Given the description of an element on the screen output the (x, y) to click on. 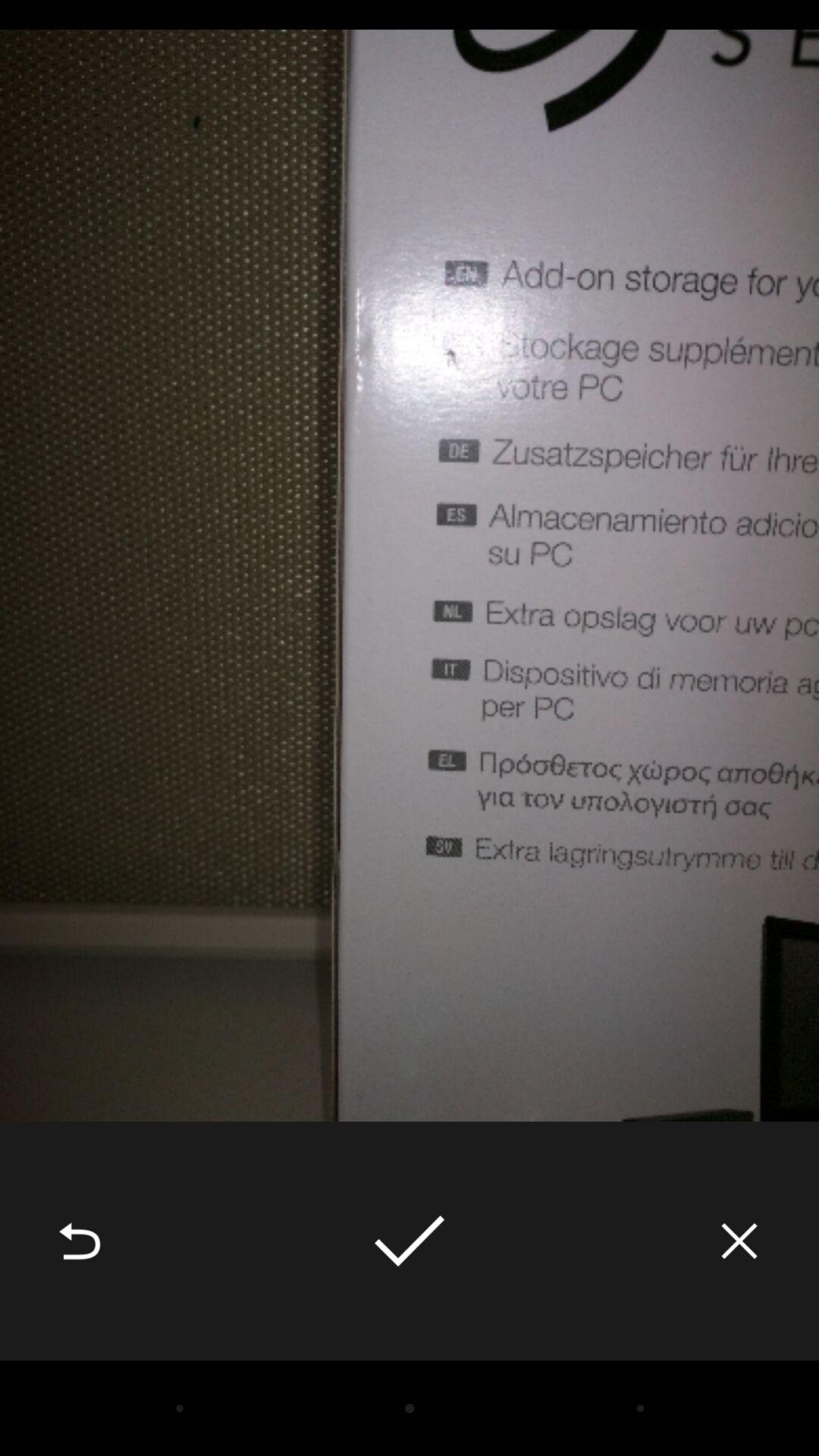
turn on icon at the bottom left corner (79, 1240)
